Given the description of an element on the screen output the (x, y) to click on. 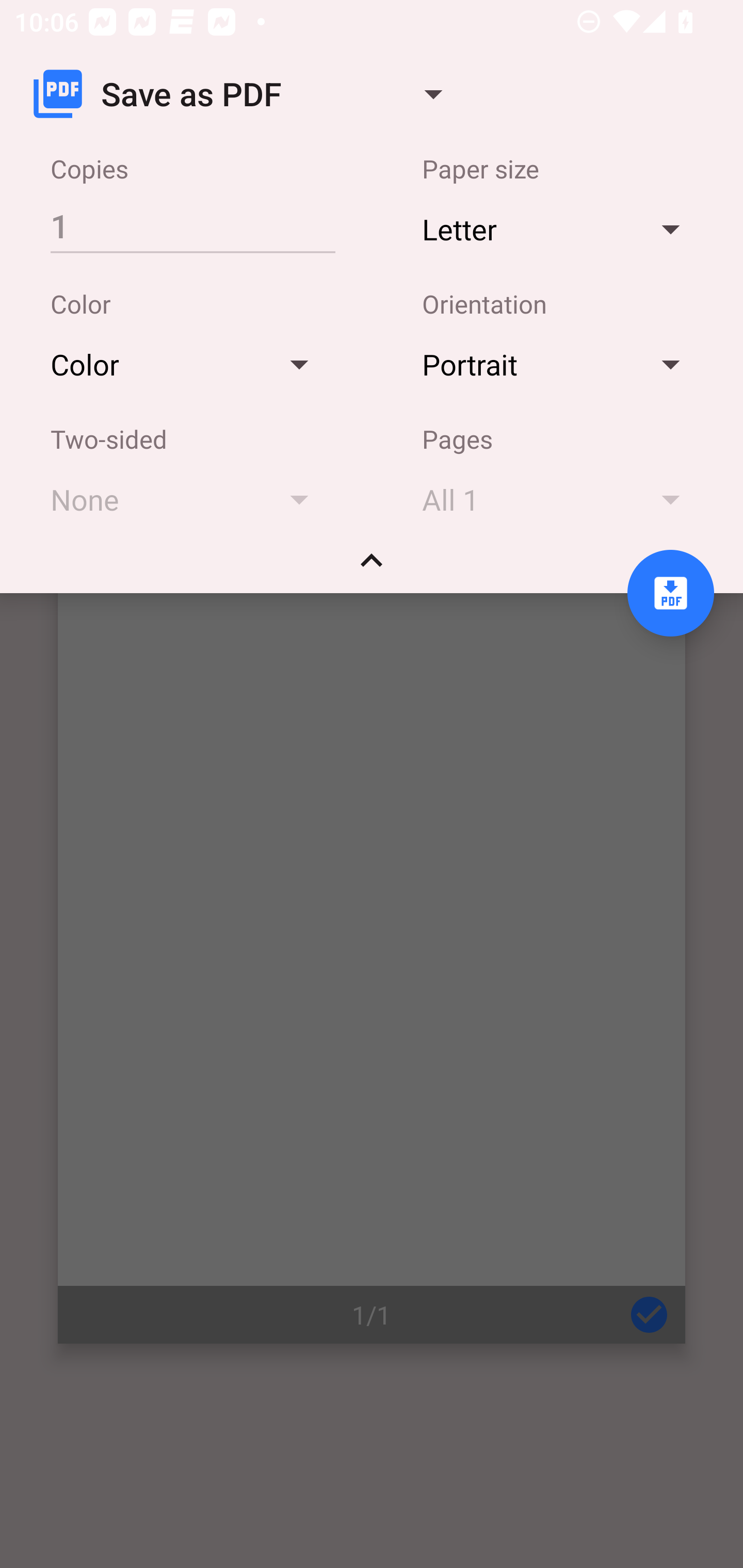
Save as PDF (245, 93)
1 (192, 225)
Letter (560, 228)
Color (189, 364)
Portrait (560, 364)
None (189, 499)
All 1 (560, 499)
Collapse handle (371, 567)
Save to PDF (670, 593)
